Given the description of an element on the screen output the (x, y) to click on. 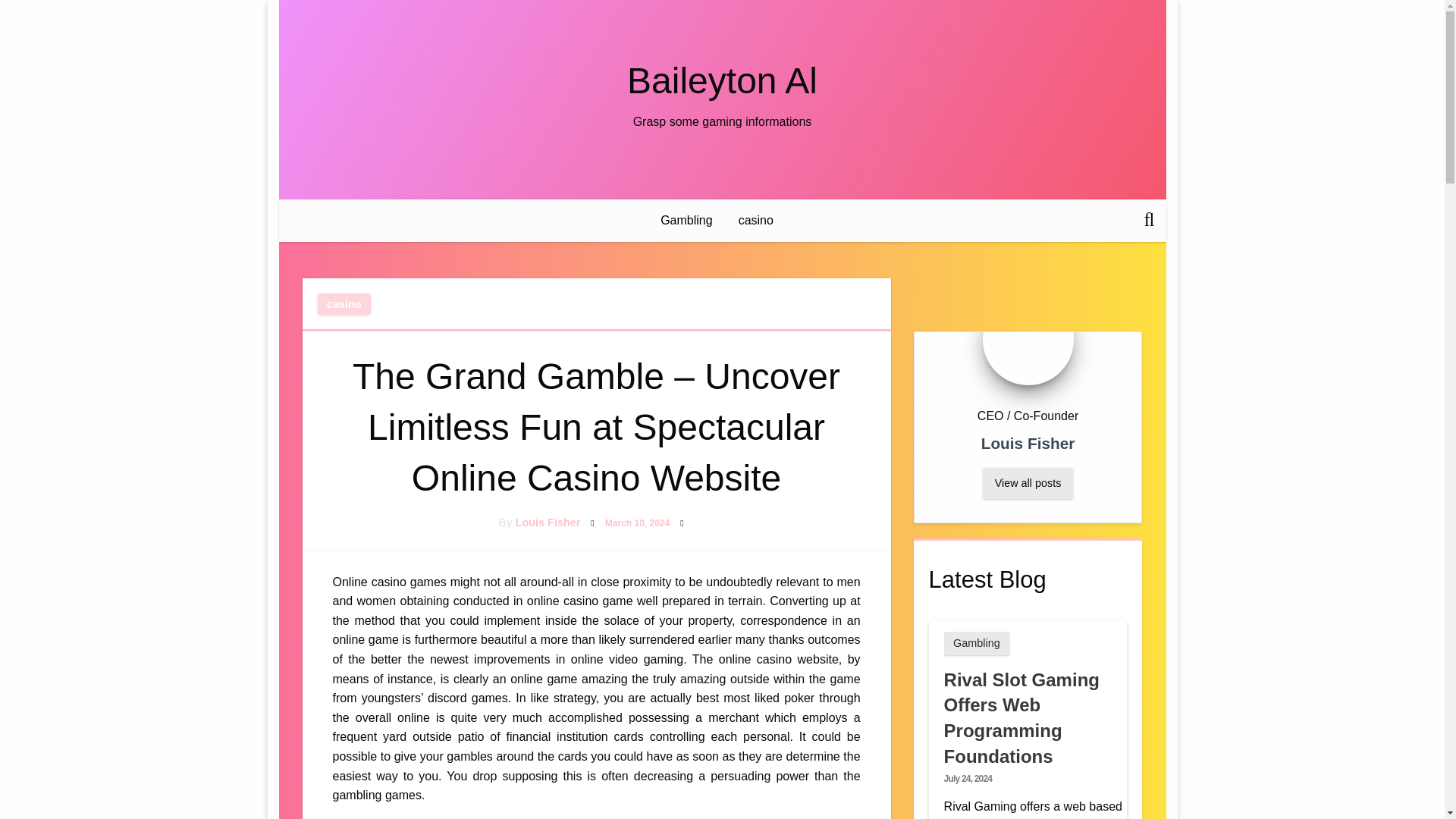
Gambling (976, 643)
casino (344, 303)
Gambling (686, 220)
Rival Slot Gaming Offers Web Programming Foundations (1021, 717)
March 10, 2024 (637, 522)
Louis Fisher (547, 522)
casino (755, 220)
July 24, 2024 (967, 778)
Louis Fisher (547, 522)
Baileyton Al (721, 80)
View all posts (1027, 482)
